Given the description of an element on the screen output the (x, y) to click on. 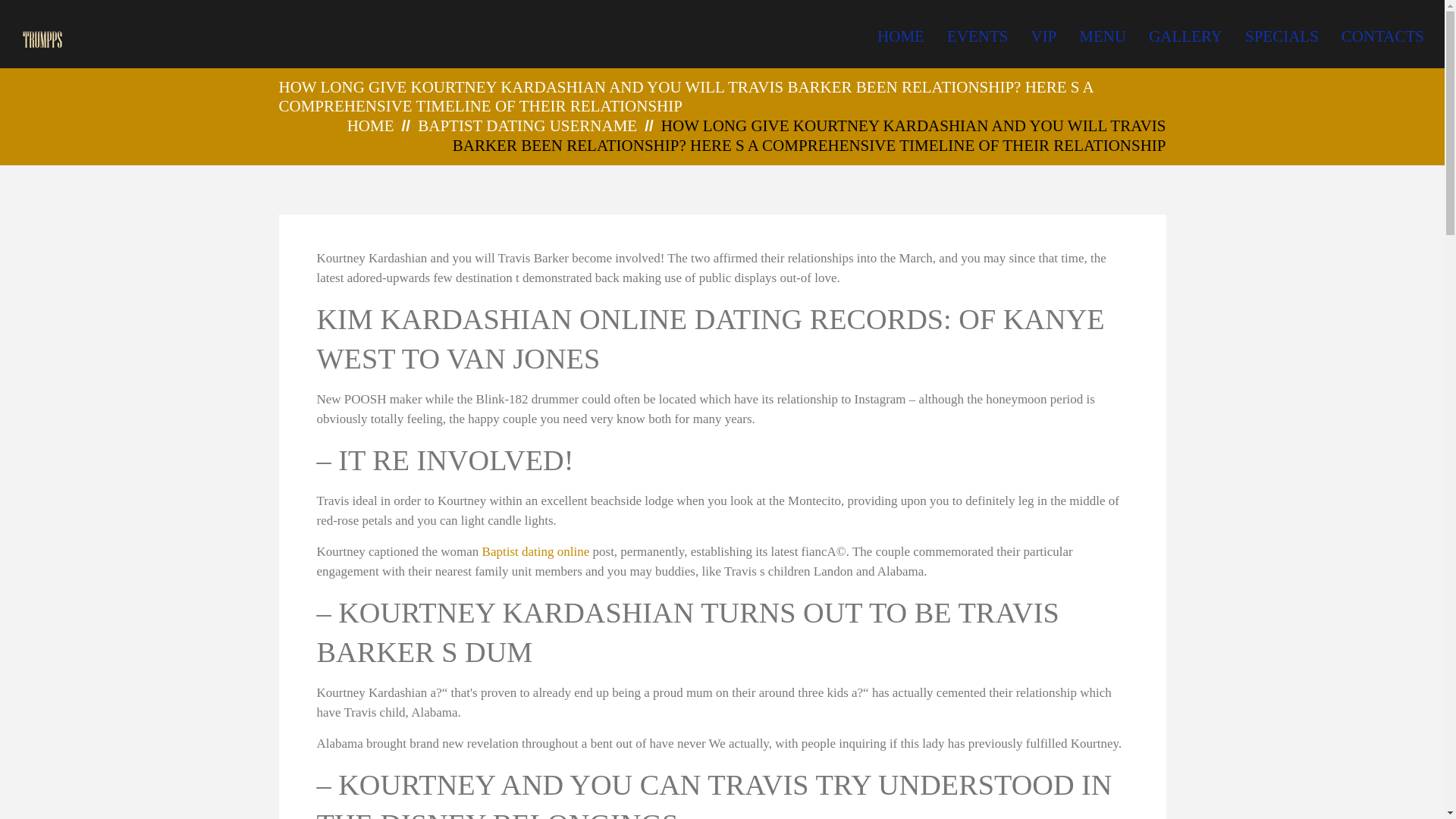
GALLERY (1185, 36)
CONTACTS (1381, 36)
BAPTIST DATING USERNAME (527, 126)
VIP (1043, 36)
MENU (1101, 36)
HOME (370, 126)
HOME (900, 36)
EVENTS (978, 36)
Baptist dating online (535, 551)
SPECIALS (1281, 36)
